Given the description of an element on the screen output the (x, y) to click on. 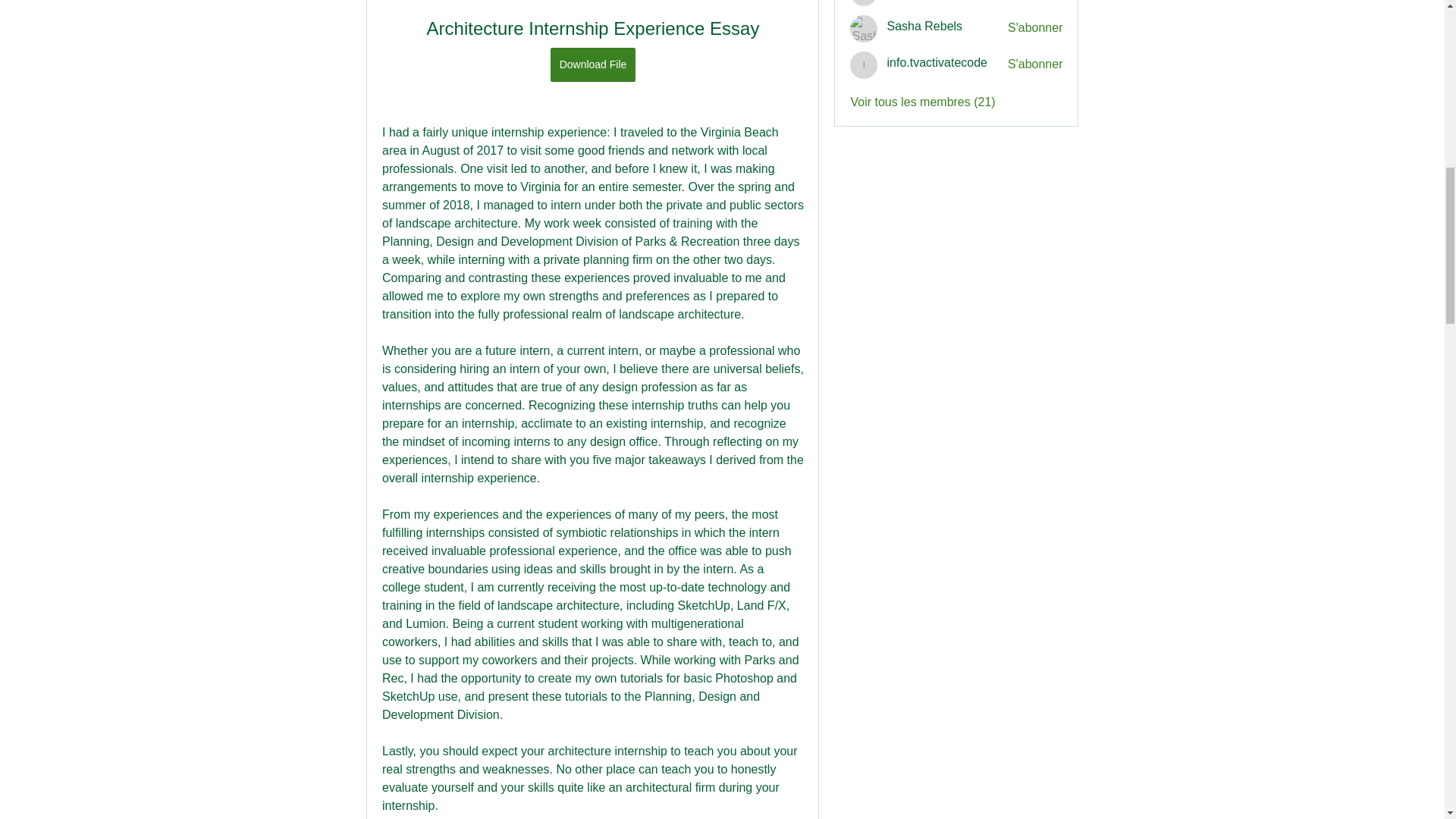
S'abonner (1034, 27)
Sasha Rebels (924, 26)
Antoine Lazarte (863, 2)
Sasha Rebels (924, 26)
info.tvactivatecode (936, 62)
info.tvactivatecode (936, 62)
info.tvactivatecode (863, 64)
S'abonner (1034, 64)
Download File (592, 64)
Sasha Rebels (863, 28)
